Given the description of an element on the screen output the (x, y) to click on. 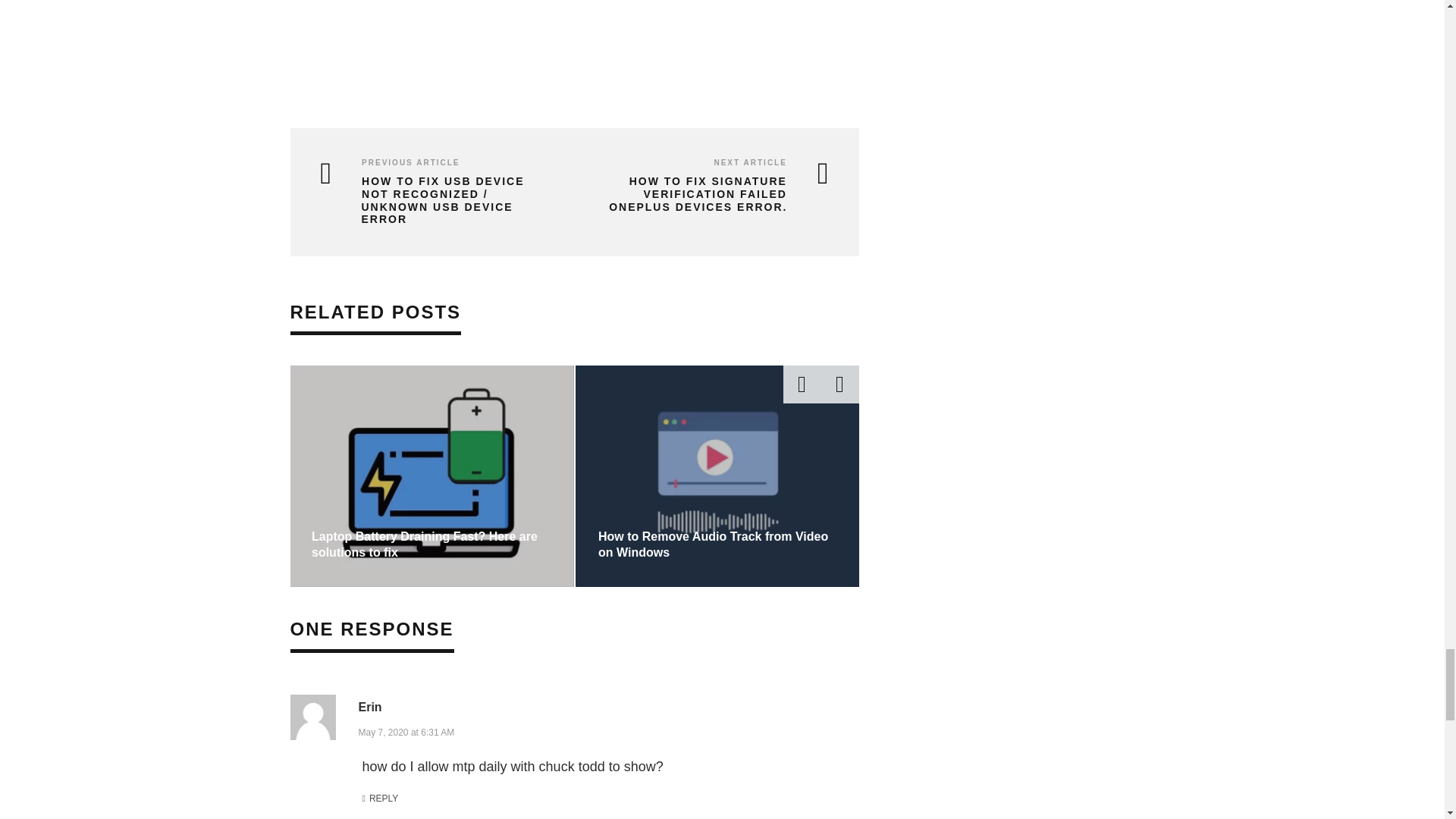
PREVIOUS ARTICLE (410, 162)
How to Remove Audio Track from Video on Windows (713, 543)
REPLY (380, 799)
May 7, 2020 at 6:31 AM (406, 730)
NEXT ARTICLE (749, 162)
Laptop Battery Draining Fast? Here are solutions to fix (424, 543)
